Given the description of an element on the screen output the (x, y) to click on. 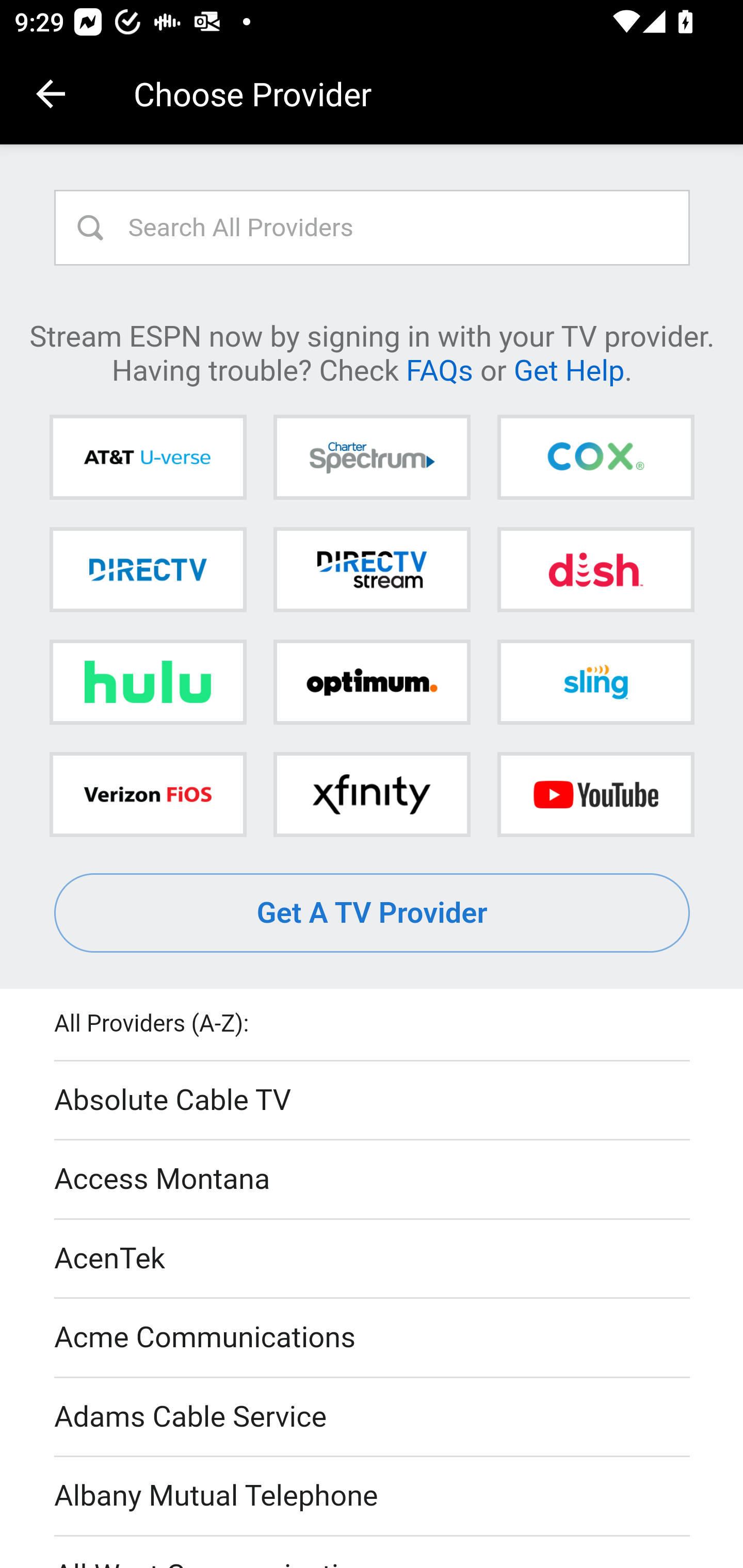
Navigate up (50, 93)
FAQs (438, 369)
Get Help (569, 369)
AT&T U-verse (147, 457)
Charter Spectrum (371, 457)
Cox (595, 457)
DIRECTV (147, 568)
DIRECTV STREAM (371, 568)
DISH (595, 568)
Hulu (147, 681)
Optimum (371, 681)
Sling TV (595, 681)
Verizon FiOS (147, 793)
Xfinity (371, 793)
YouTube TV (595, 793)
Get A TV Provider (372, 912)
Absolute Cable TV (372, 1100)
Access Montana (372, 1178)
AcenTek (372, 1258)
Acme Communications (372, 1338)
Adams Cable Service (372, 1417)
Albany Mutual Telephone (372, 1497)
